Given the description of an element on the screen output the (x, y) to click on. 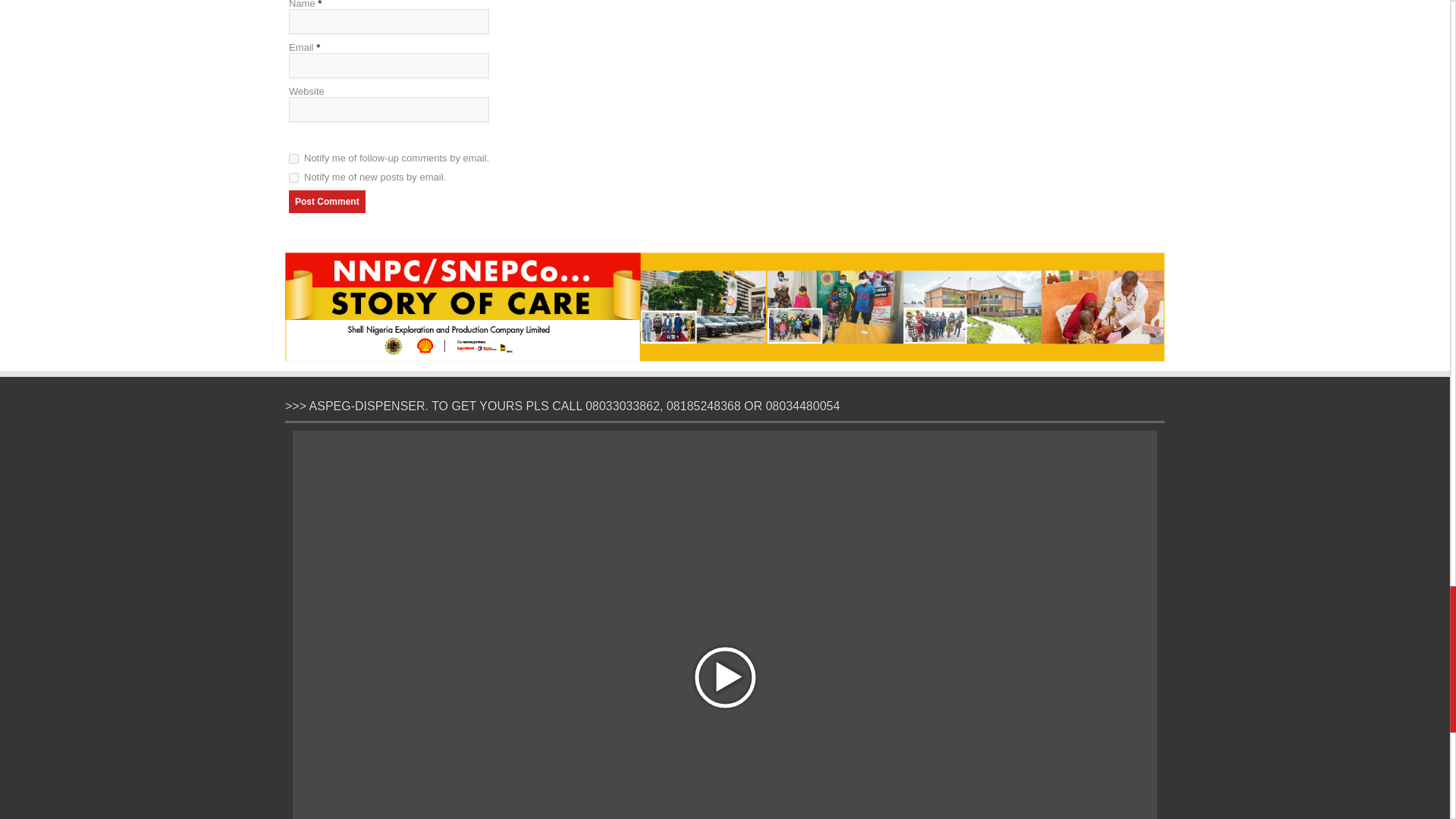
subscribe (293, 177)
Post Comment (326, 201)
subscribe (293, 158)
